Given the description of an element on the screen output the (x, y) to click on. 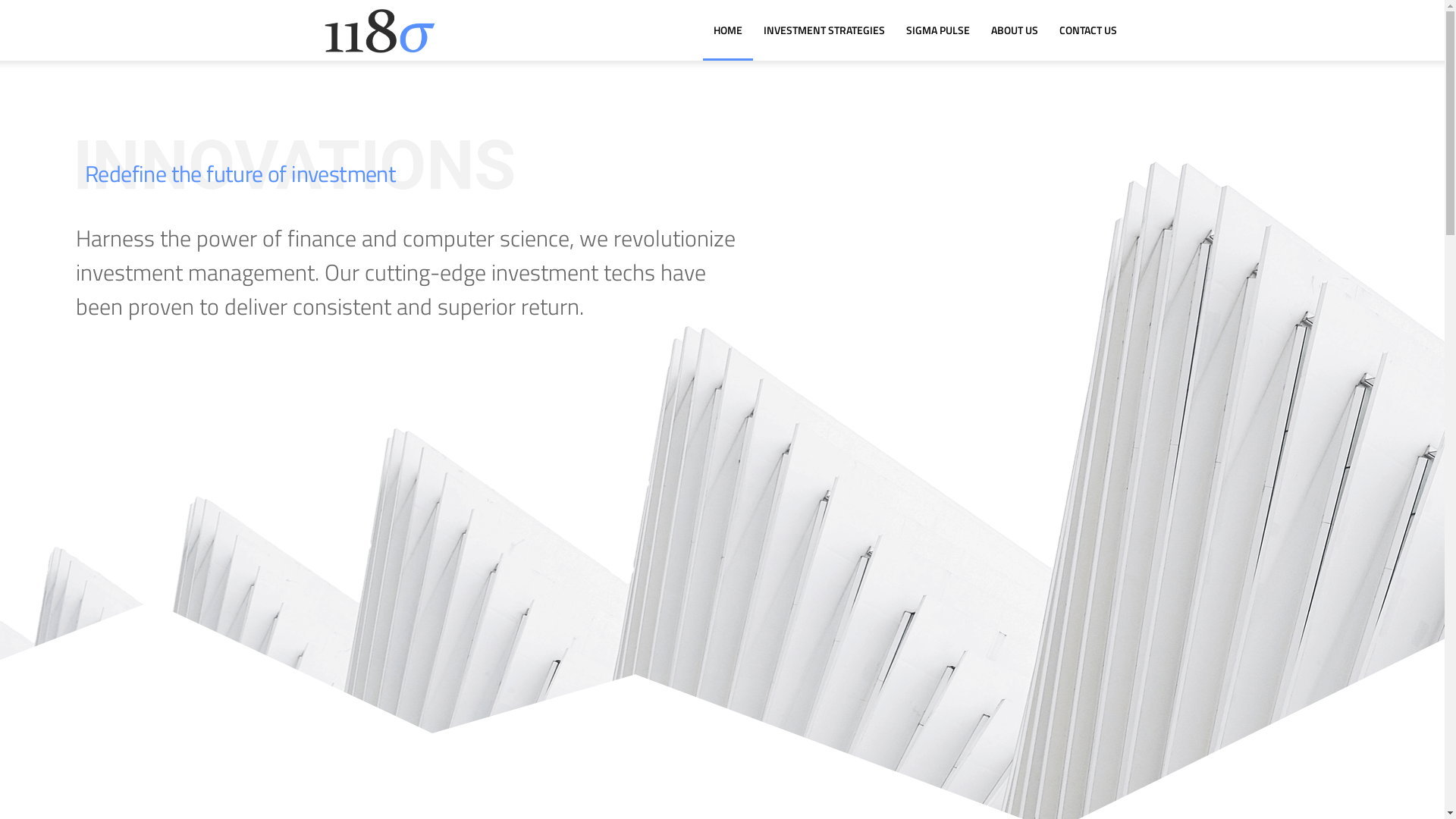
ABOUT US Element type: text (1013, 30)
CONTACT US Element type: text (1087, 30)
INVESTMENT STRATEGIES Element type: text (823, 30)
118 Sigma Element type: text (377, 30)
SIGMA PULSE Element type: text (936, 30)
HOME Element type: text (727, 30)
